Given the description of an element on the screen output the (x, y) to click on. 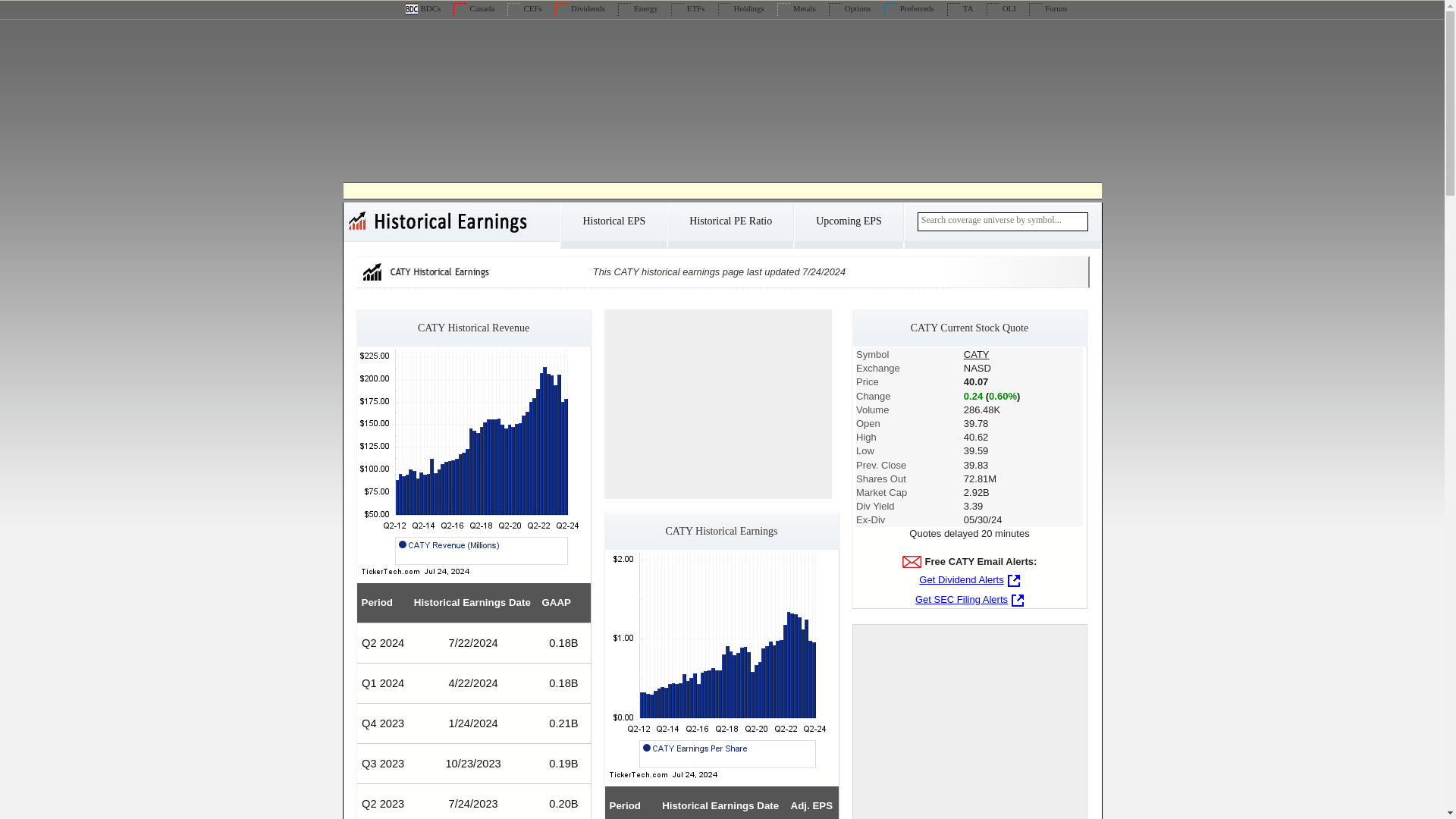
Holdings Channel (740, 8)
Upcoming EPS Dates (847, 225)
ETFs (687, 8)
BDC Investor (422, 8)
CATY (976, 354)
Historical EPS (613, 225)
Upcoming EPS (847, 225)
Dividend Channel (579, 8)
ValueForum (1048, 8)
Preferred Stocks (908, 8)
Technical Analysis Channel (960, 8)
CEFs (523, 8)
ETF Channel (687, 8)
Historical PE Ratio (729, 225)
Preferreds (908, 8)
